Given the description of an element on the screen output the (x, y) to click on. 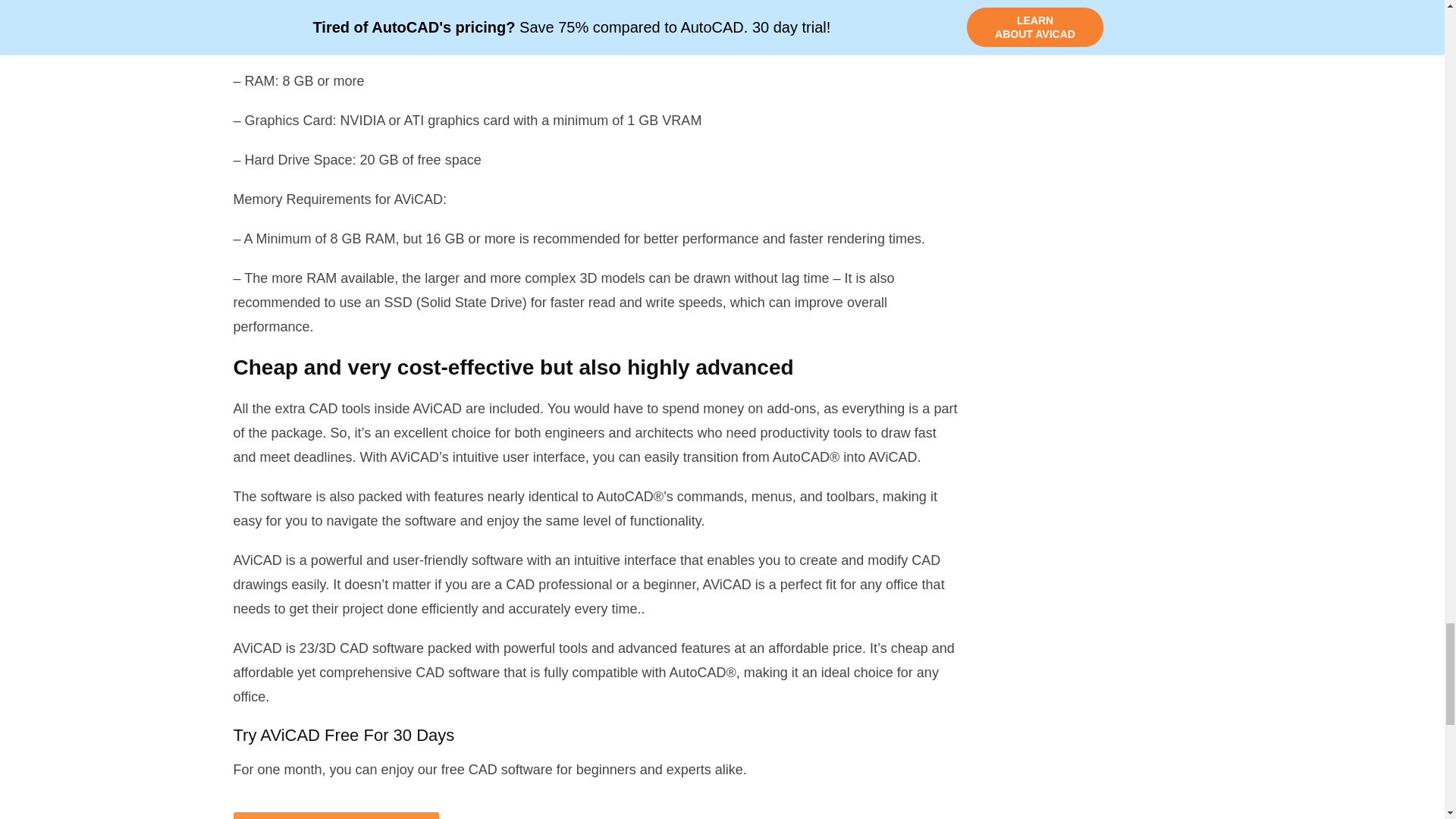
Download AViCAD Trial (335, 815)
Get started for free (335, 815)
